Given the description of an element on the screen output the (x, y) to click on. 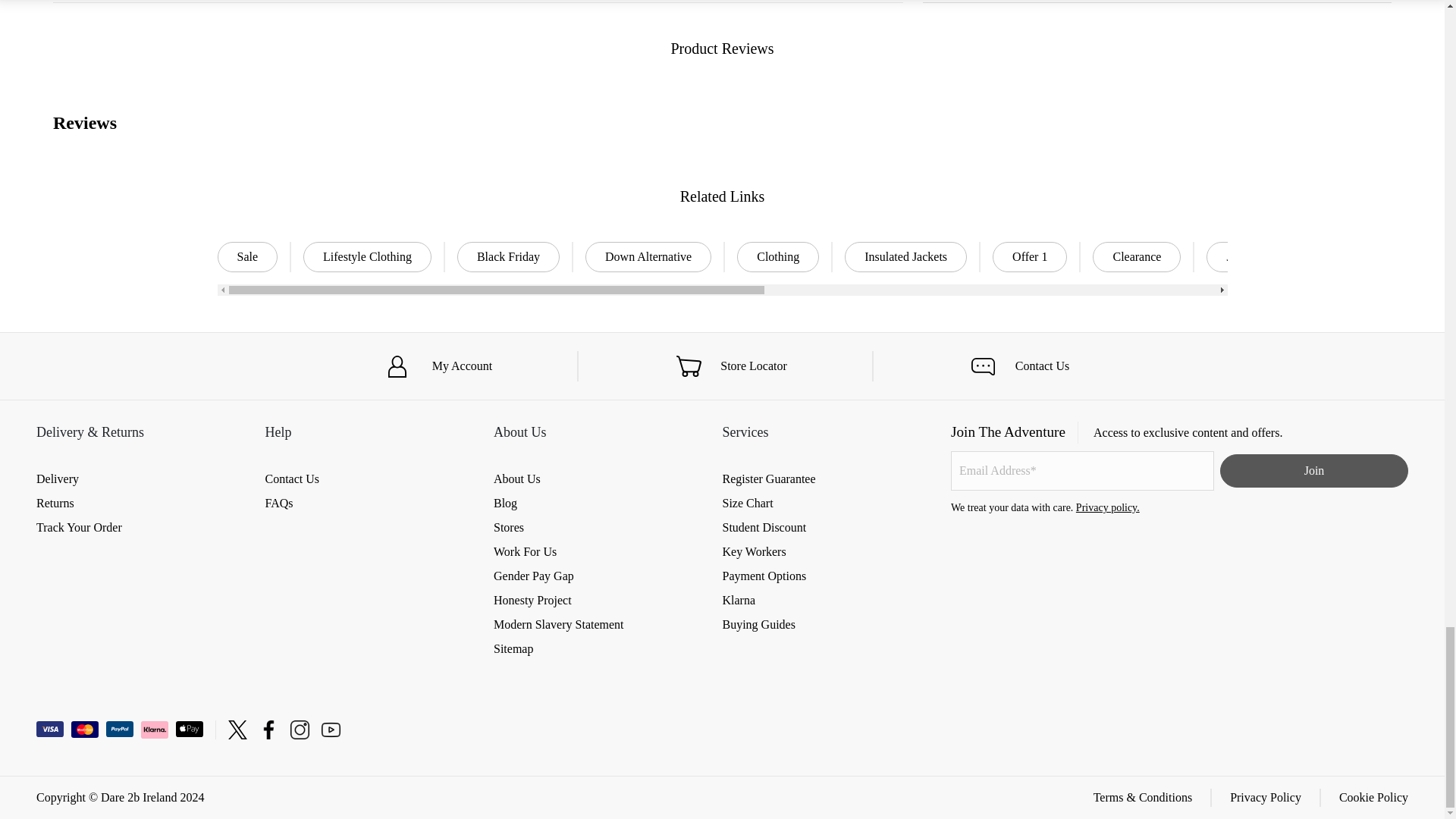
Join (1313, 470)
